Given the description of an element on the screen output the (x, y) to click on. 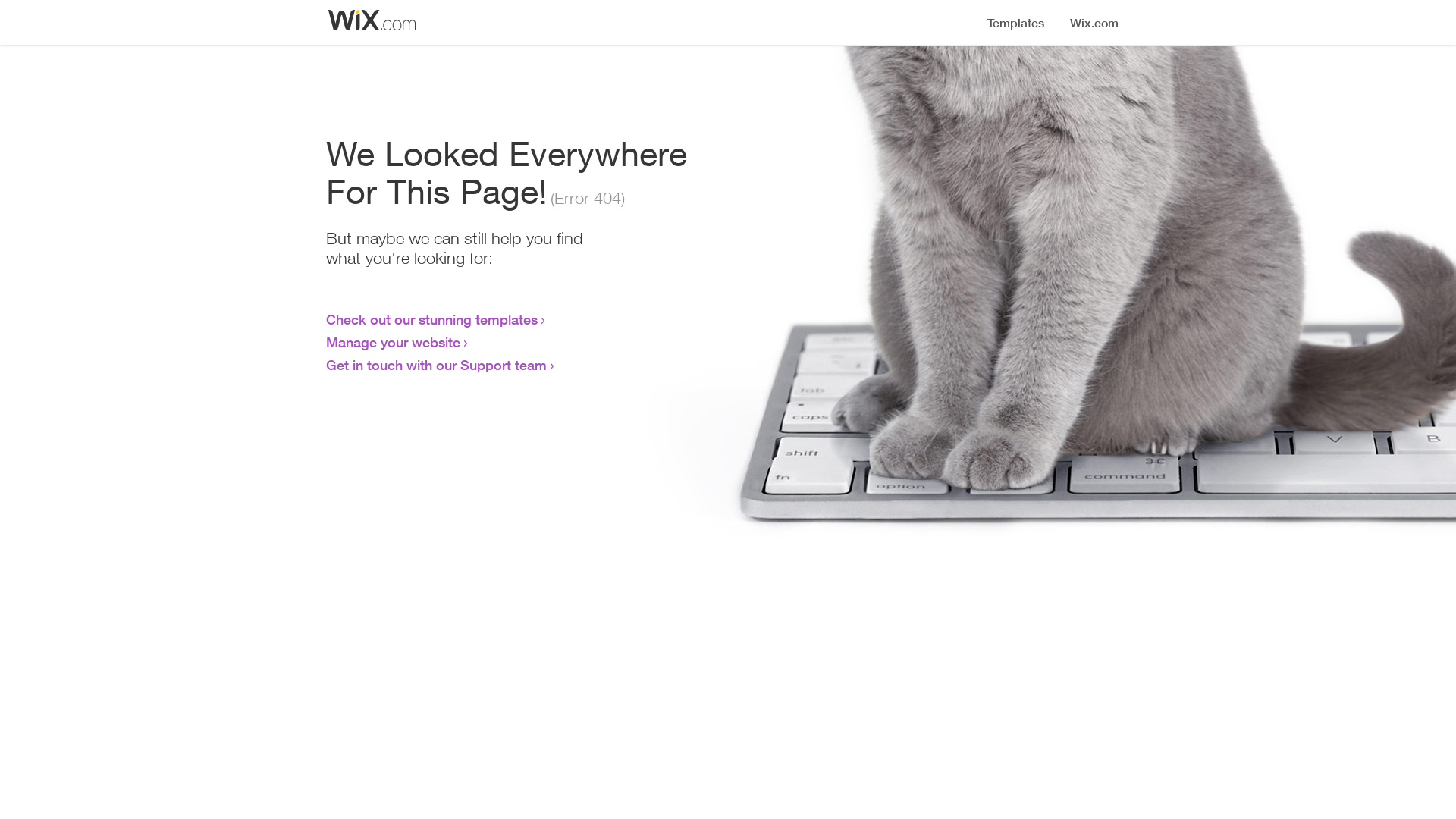
Get in touch with our Support team Element type: text (436, 364)
Check out our stunning templates Element type: text (431, 318)
Manage your website Element type: text (393, 341)
